Given the description of an element on the screen output the (x, y) to click on. 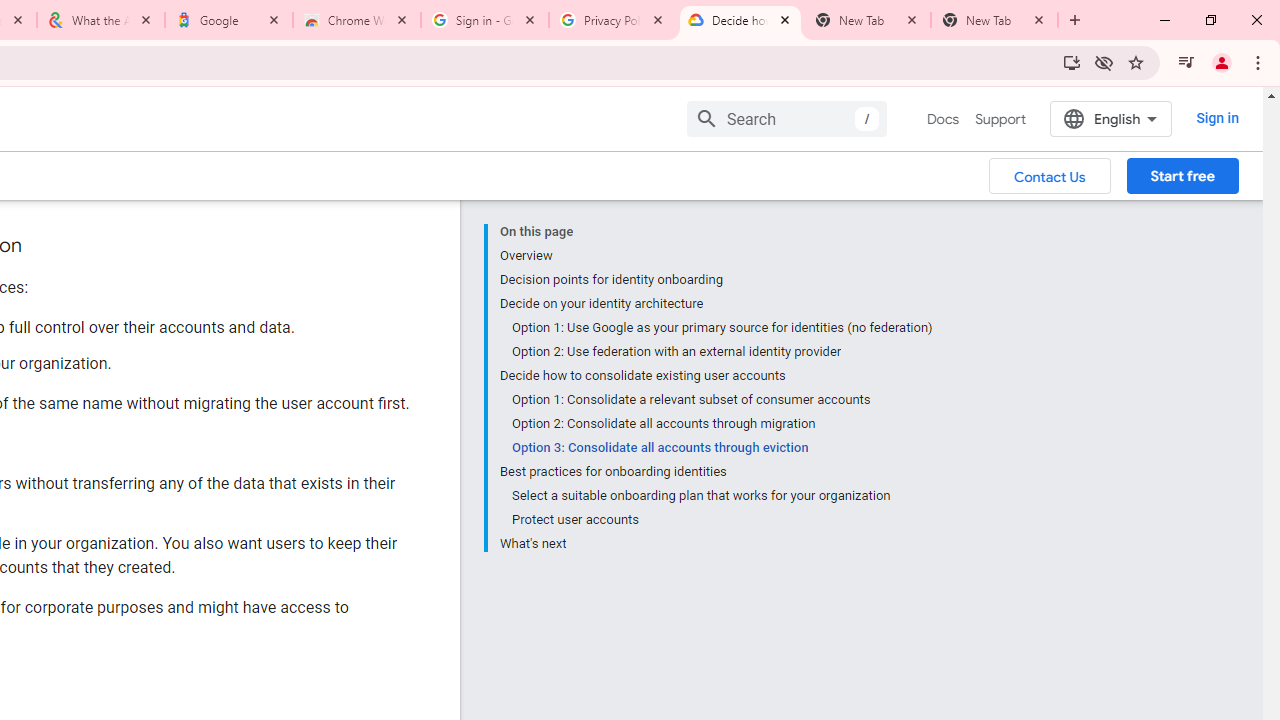
Start free (1182, 175)
Support (1000, 119)
Sign in - Google Accounts (485, 20)
Protect user accounts (721, 520)
Search (786, 118)
Third-party cookies blocked (1103, 62)
Decide on your identity architecture (716, 304)
Option 1: Consolidate a relevant subset of consumer accounts (721, 399)
Decision points for identity onboarding (716, 279)
Option 3: Consolidate all accounts through eviction (721, 448)
Best practices for onboarding identities (716, 471)
Control your music, videos, and more (1185, 62)
